Given the description of an element on the screen output the (x, y) to click on. 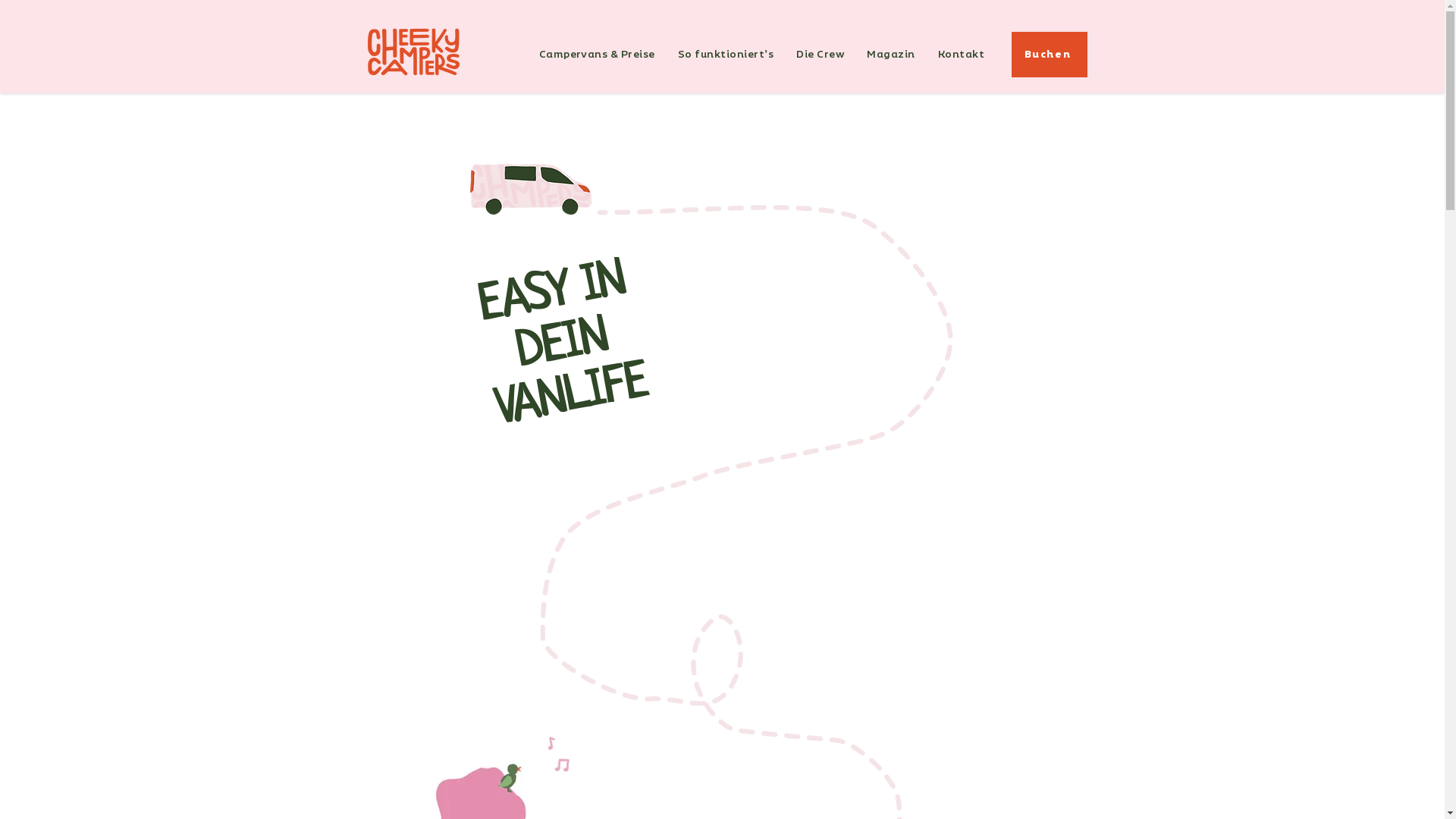
Buchen Element type: text (1049, 54)
Magazin Element type: text (890, 54)
Kontakt Element type: text (961, 54)
Die Crew Element type: text (819, 54)
Campervans & Preise Element type: text (596, 54)
